Given the description of an element on the screen output the (x, y) to click on. 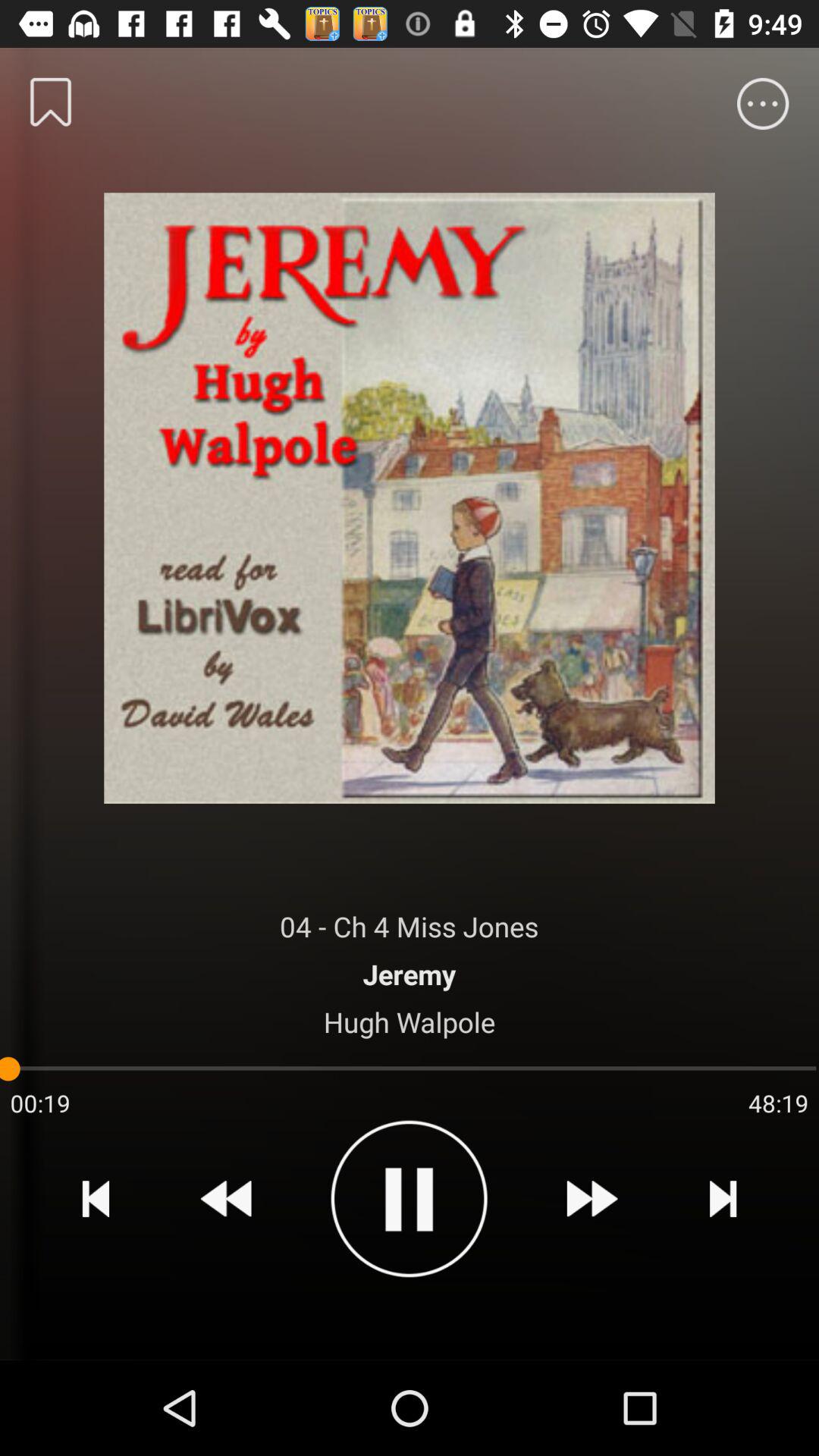
tap icon below 00:23 (95, 1198)
